Given the description of an element on the screen output the (x, y) to click on. 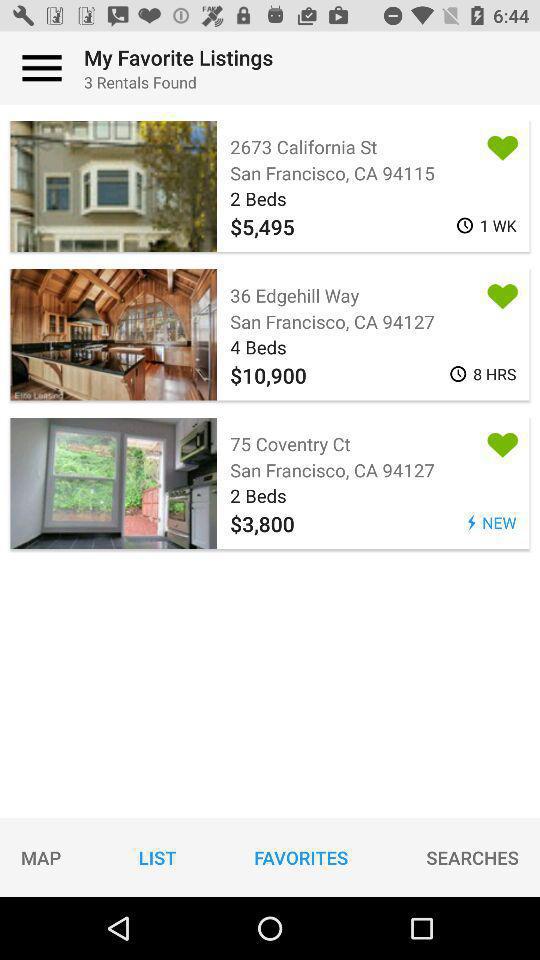
scroll until the map item (41, 857)
